Given the description of an element on the screen output the (x, y) to click on. 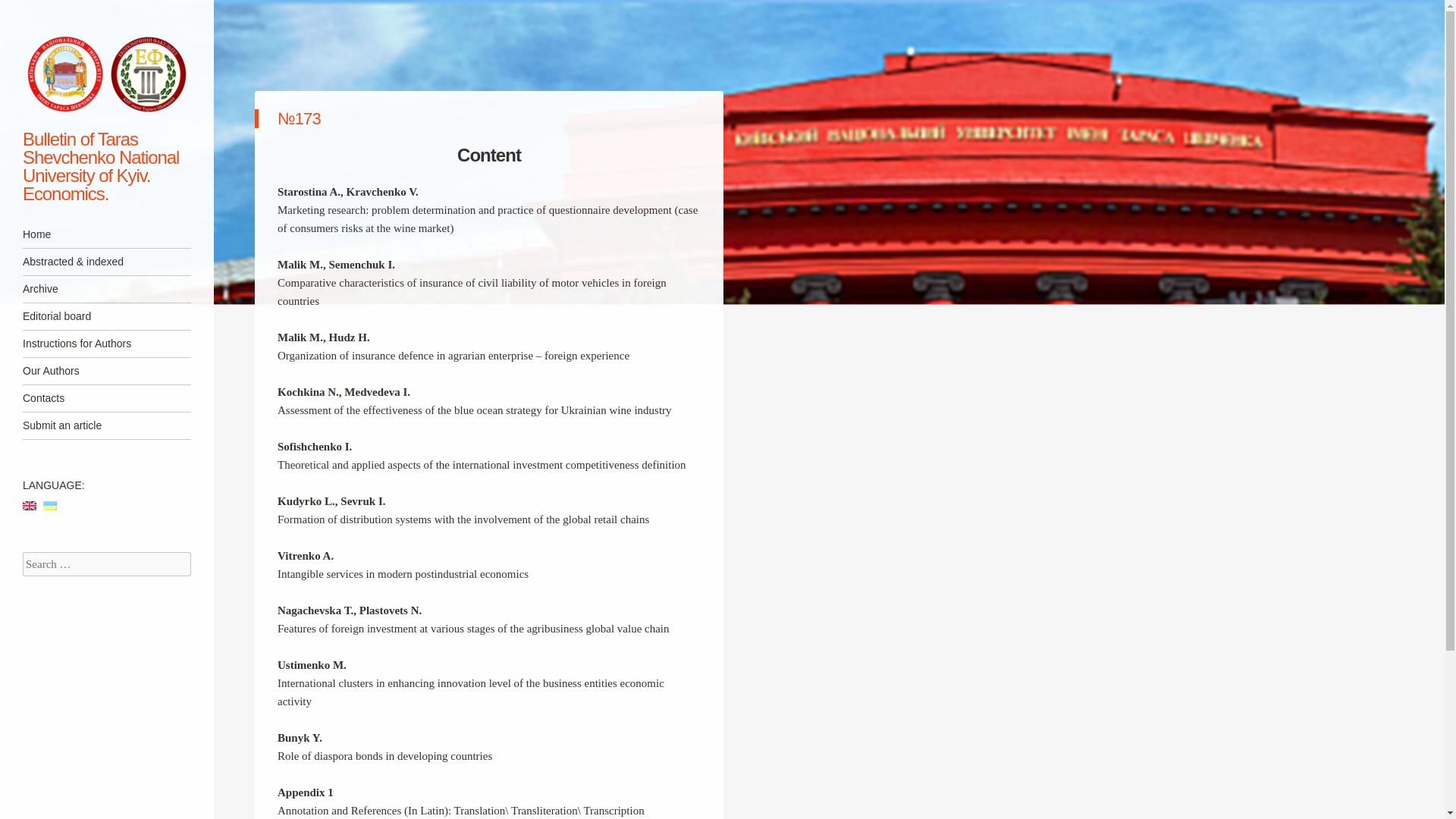
Our Authors (106, 370)
Editorial board (106, 316)
Submit an article (106, 425)
Contacts (106, 397)
Search (32, 11)
Instructions for Authors (106, 343)
Skip to content (58, 234)
Archive (106, 289)
Home (106, 234)
Skip to content (58, 234)
